Given the description of an element on the screen output the (x, y) to click on. 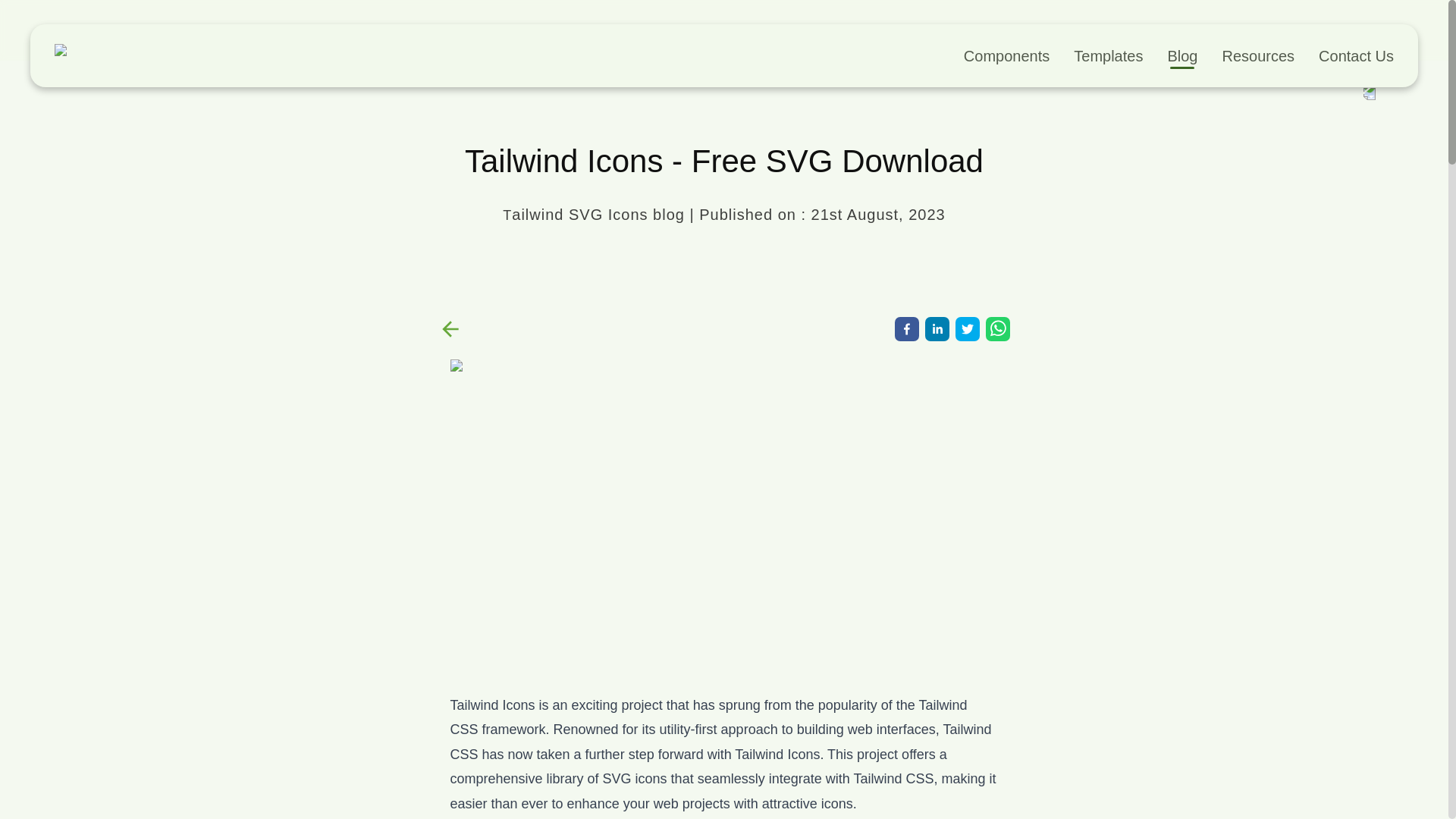
Templates (1108, 55)
TailwindTap - Tailwind CSS Components and Templates (127, 55)
Back (450, 328)
Contact Us (1356, 55)
Resources (1257, 55)
Blog (1181, 55)
Components (1006, 55)
